Given the description of an element on the screen output the (x, y) to click on. 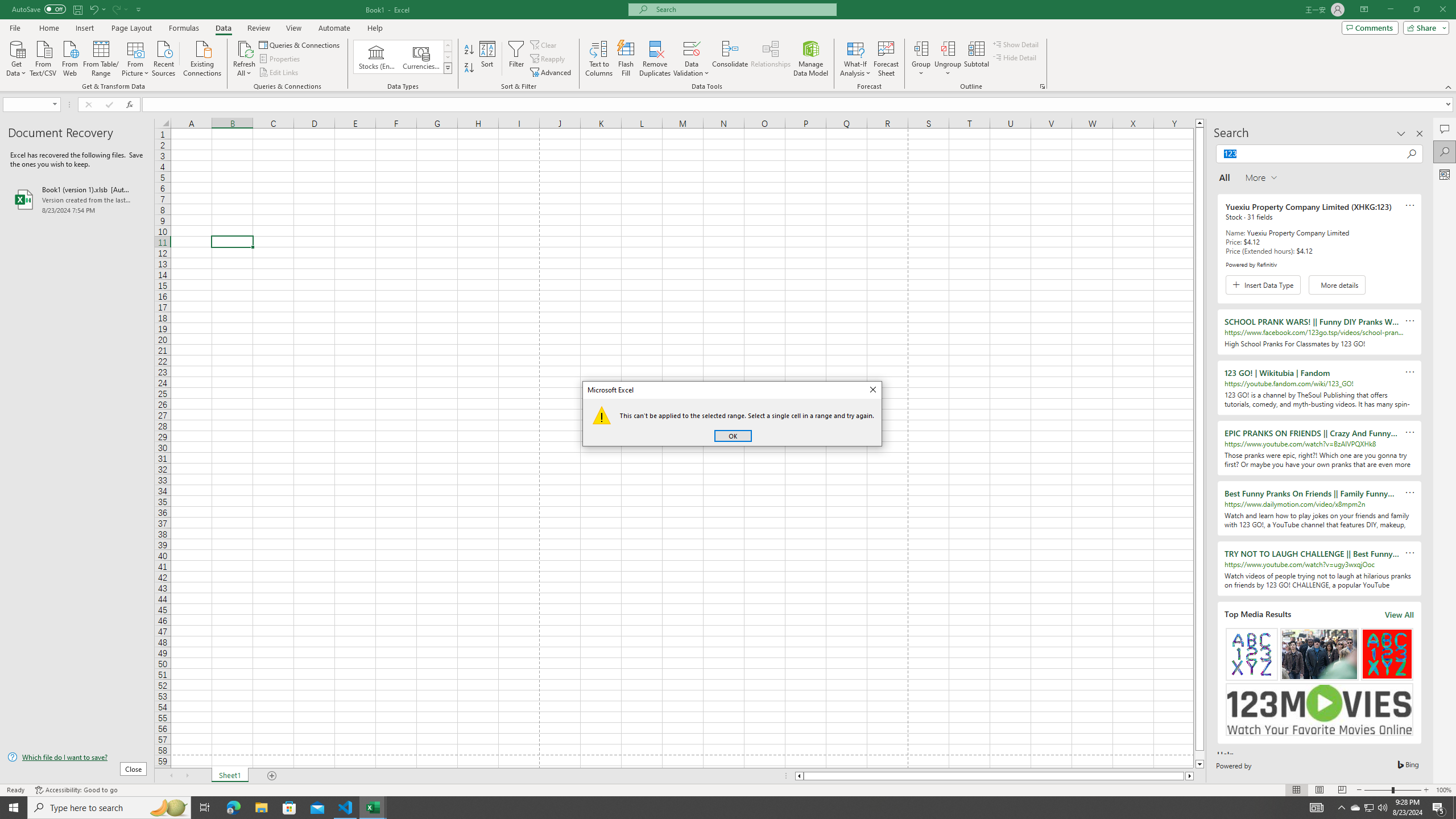
Data Types (448, 67)
Type here to search (108, 807)
Edit Links (279, 72)
Stocks (English) (375, 56)
